Given the description of an element on the screen output the (x, y) to click on. 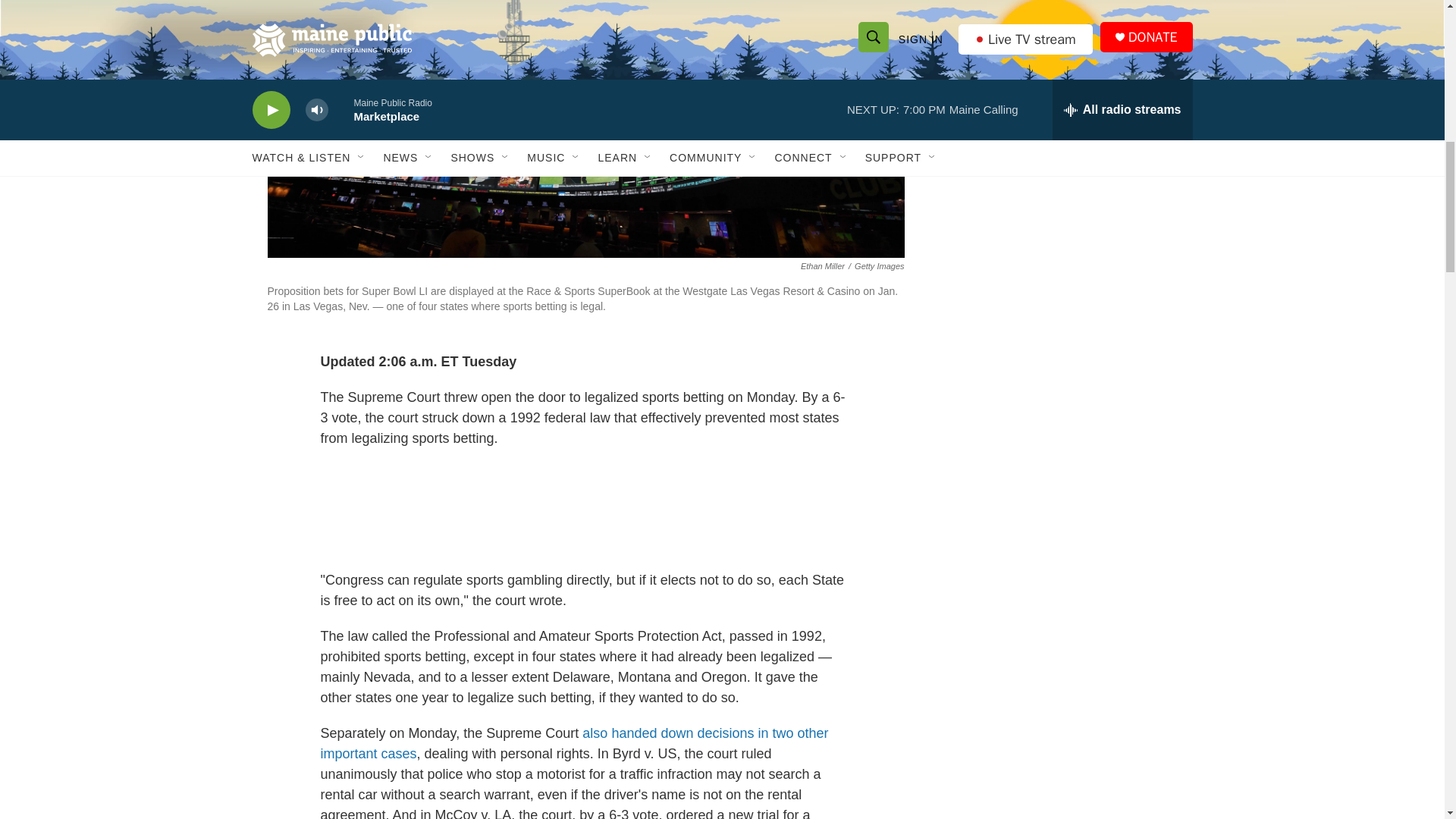
3rd party ad content (1062, 240)
3rd party ad content (1062, 58)
3rd party ad content (584, 509)
